Given the description of an element on the screen output the (x, y) to click on. 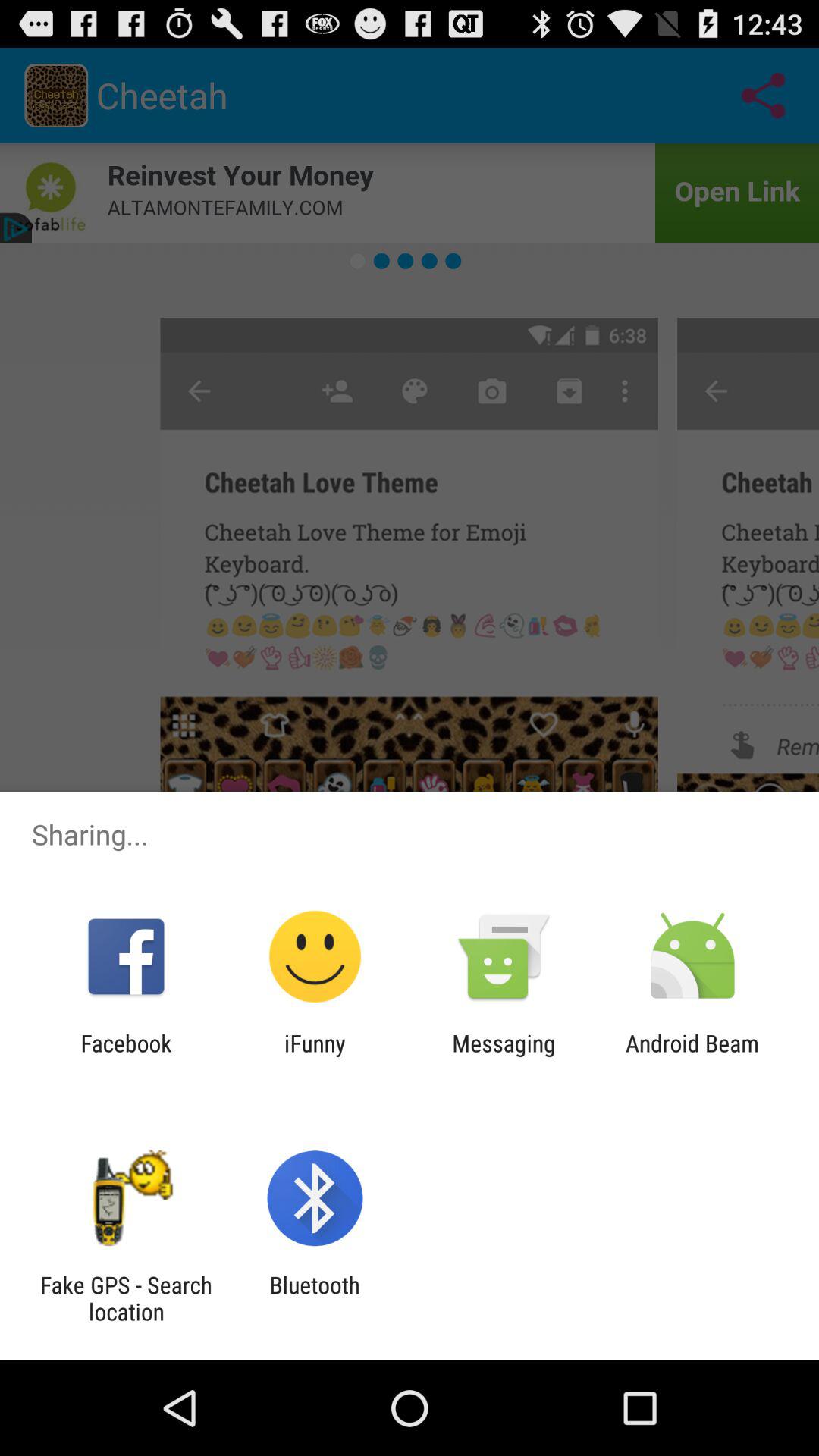
launch the item to the right of ifunny app (503, 1056)
